Given the description of an element on the screen output the (x, y) to click on. 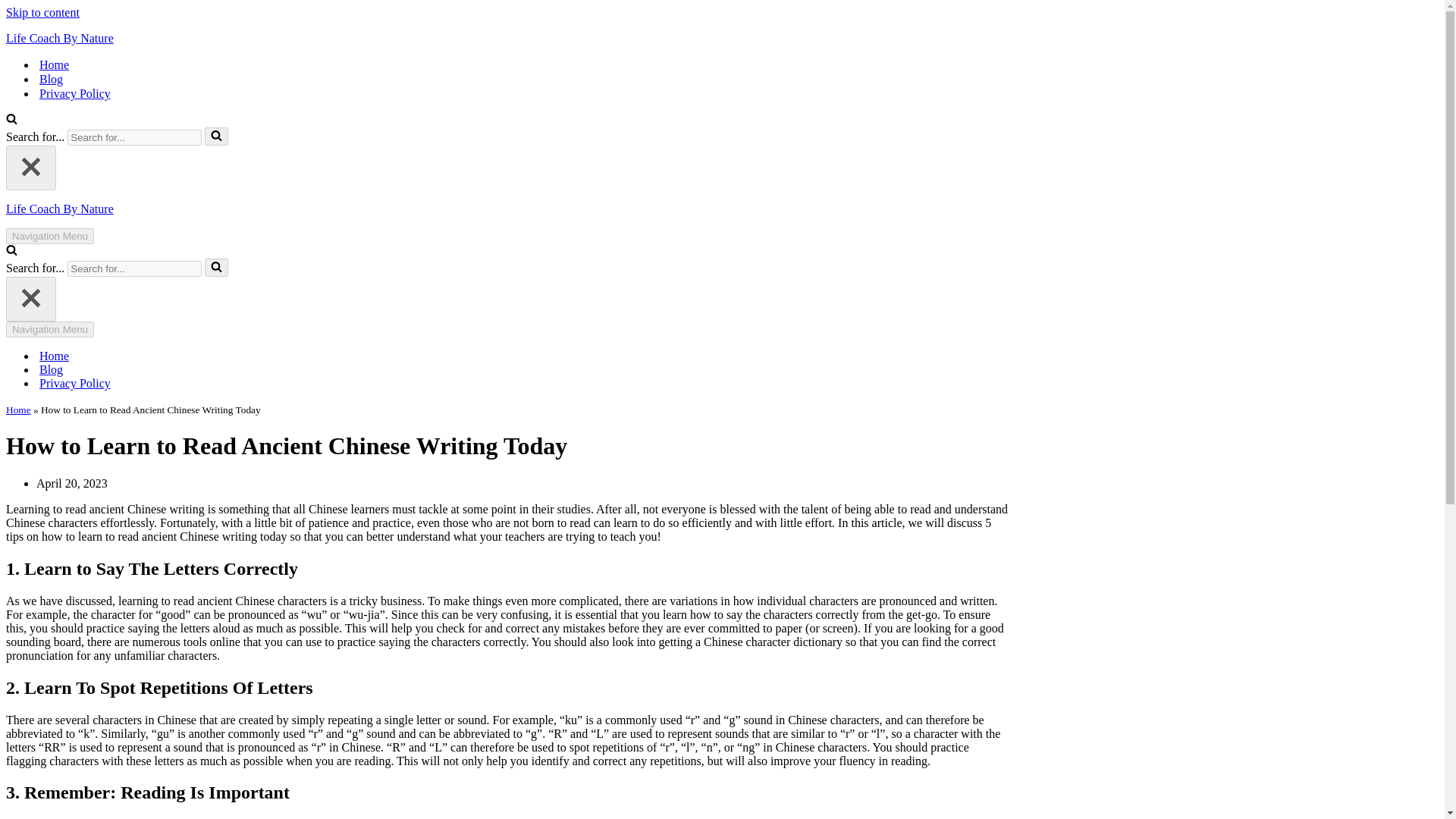
Privacy Policy (74, 93)
Navigation Menu (49, 329)
Blog (50, 79)
Privacy Policy (74, 383)
Blog (50, 369)
Navigation Menu (49, 236)
Home (17, 409)
Home (53, 64)
Skip to content (42, 11)
Home (53, 356)
